Given the description of an element on the screen output the (x, y) to click on. 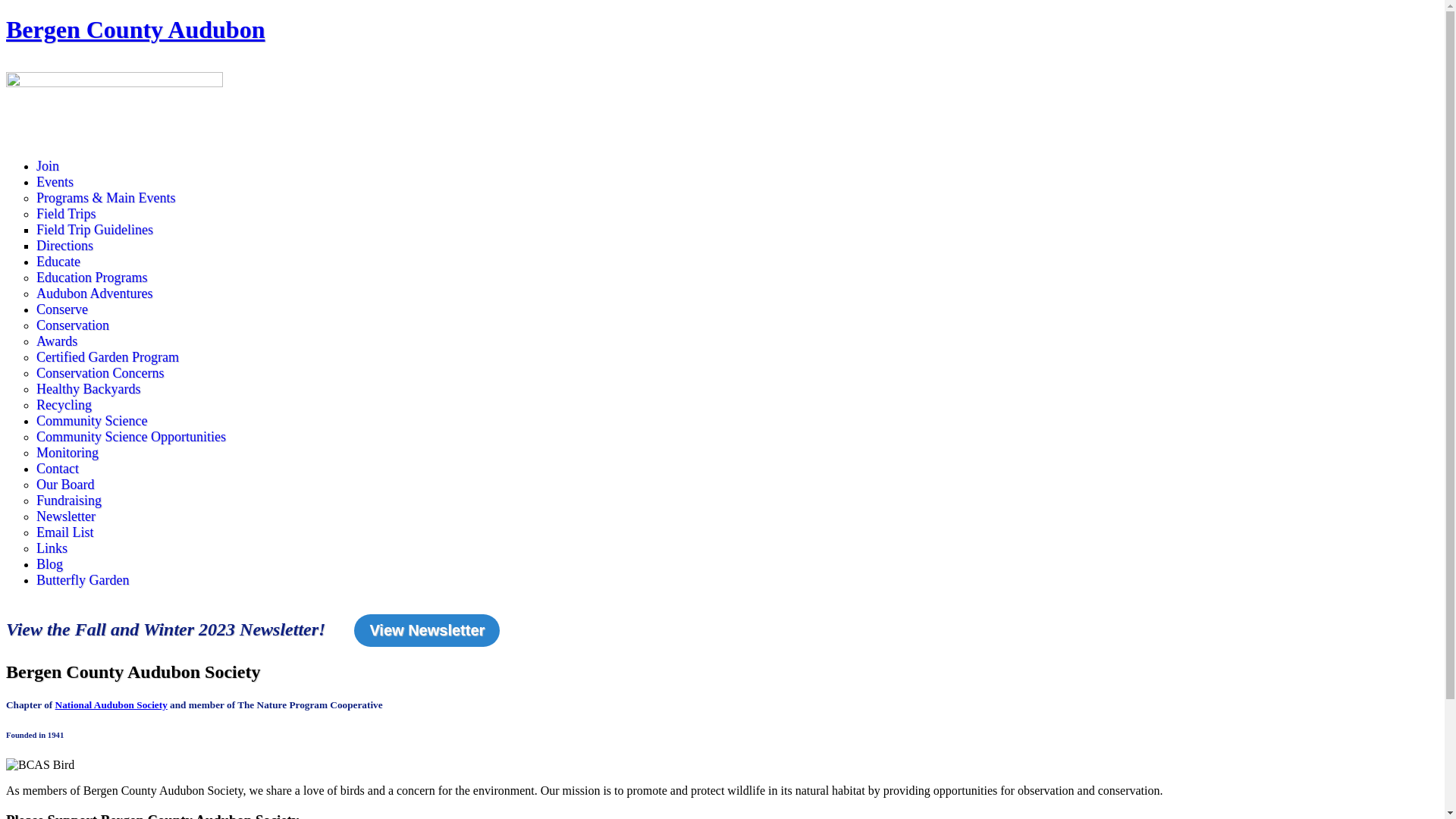
Programs & Main Events Element type: text (105, 197)
Events Element type: text (54, 181)
Field Trips Element type: text (66, 213)
Fundraising Element type: text (68, 500)
Butterfly Garden Element type: text (82, 580)
Conservation Element type: text (72, 325)
Awards Element type: text (56, 341)
Join Element type: text (47, 166)
Conserve Element type: text (61, 309)
Conservation Concerns Element type: text (99, 373)
Monitoring Element type: text (67, 452)
Certified Garden Program Element type: text (107, 357)
Newsletter Element type: text (65, 516)
Contact Element type: text (57, 468)
National Audubon Society Element type: text (111, 704)
Audubon Adventures Element type: text (94, 293)
Bergen County Audubon Element type: text (135, 29)
Recycling Element type: text (63, 404)
Directions Element type: text (64, 245)
Healthy Backyards Element type: text (88, 388)
View Newsletter Element type: text (426, 630)
Our Board Element type: text (65, 484)
Community Science Element type: text (91, 420)
Email List Element type: text (65, 532)
Blog Element type: text (49, 564)
Education Programs Element type: text (91, 277)
Field Trip Guidelines Element type: text (94, 229)
Community Science Opportunities Element type: text (130, 436)
Educate Element type: text (58, 261)
Links Element type: text (51, 548)
